Given the description of an element on the screen output the (x, y) to click on. 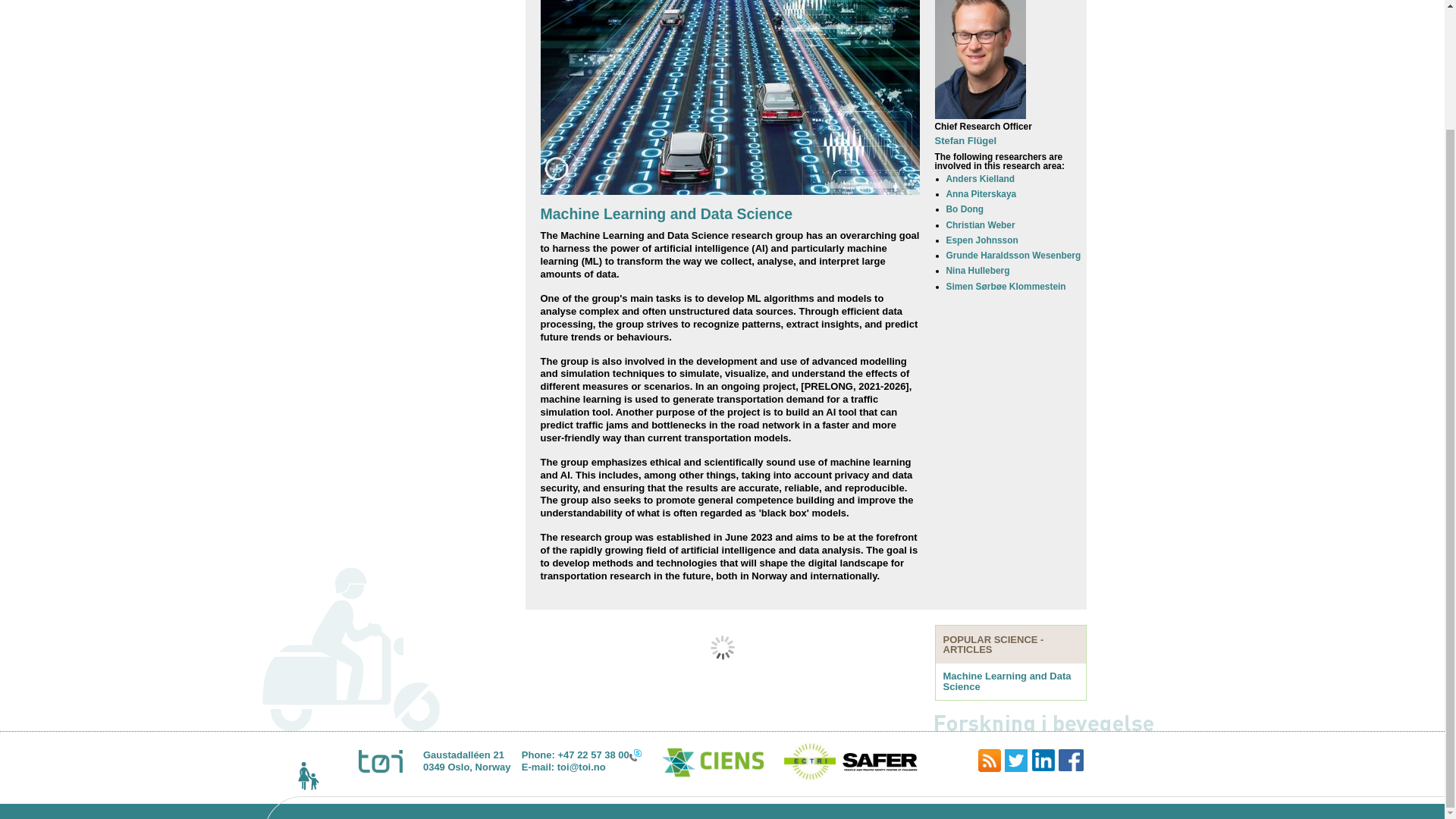
Nina Hulleberg (978, 270)
Espen Johnsson (981, 240)
Anna Piterskaya (981, 194)
Anders Kielland (980, 178)
Christian Weber (980, 225)
Grunde Haraldsson Wesenberg (1013, 255)
Bo Dong (965, 208)
Machine Learning and Data Science (1007, 681)
